Given the description of an element on the screen output the (x, y) to click on. 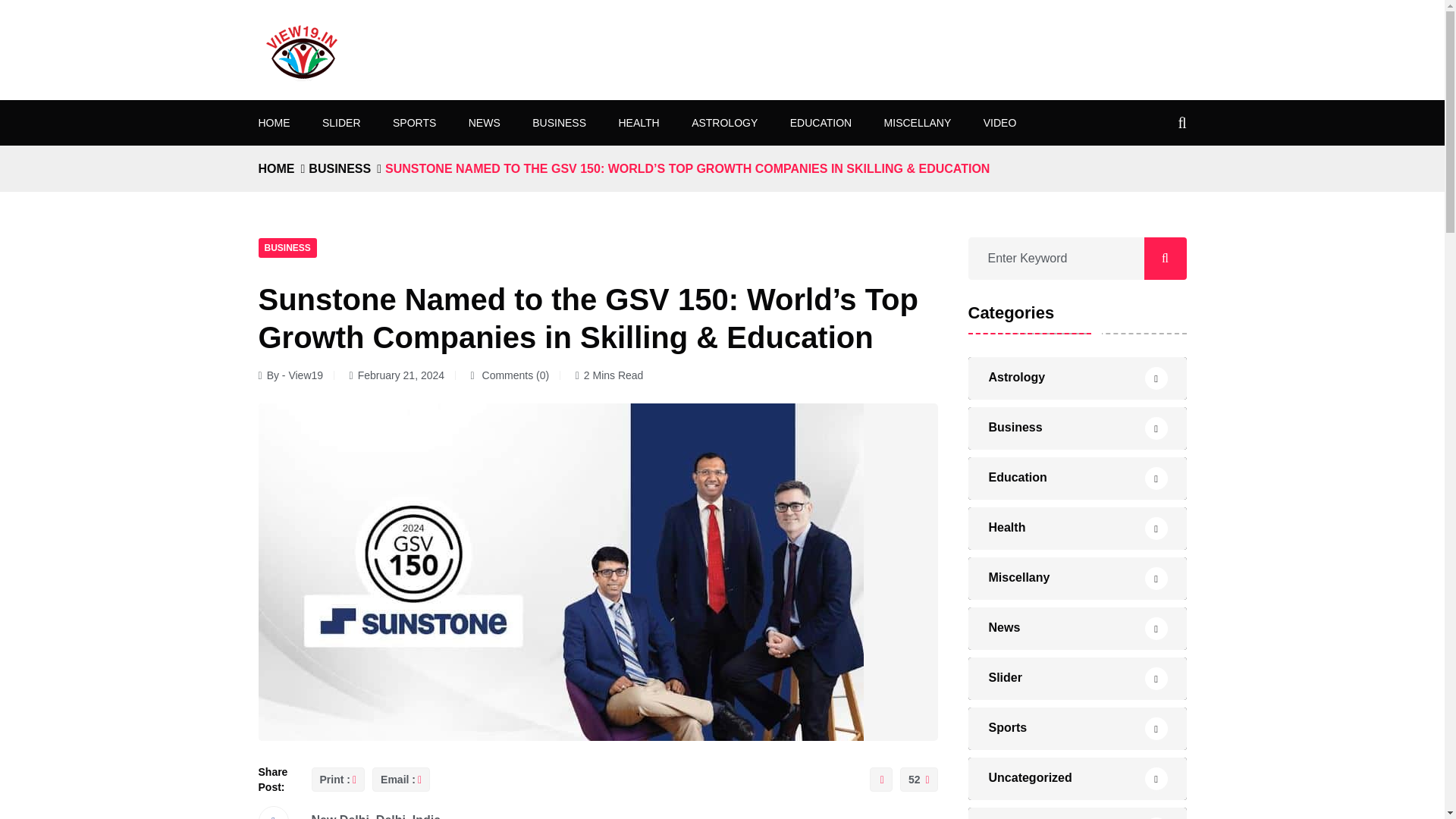
SPORTS (414, 122)
